Given the description of an element on the screen output the (x, y) to click on. 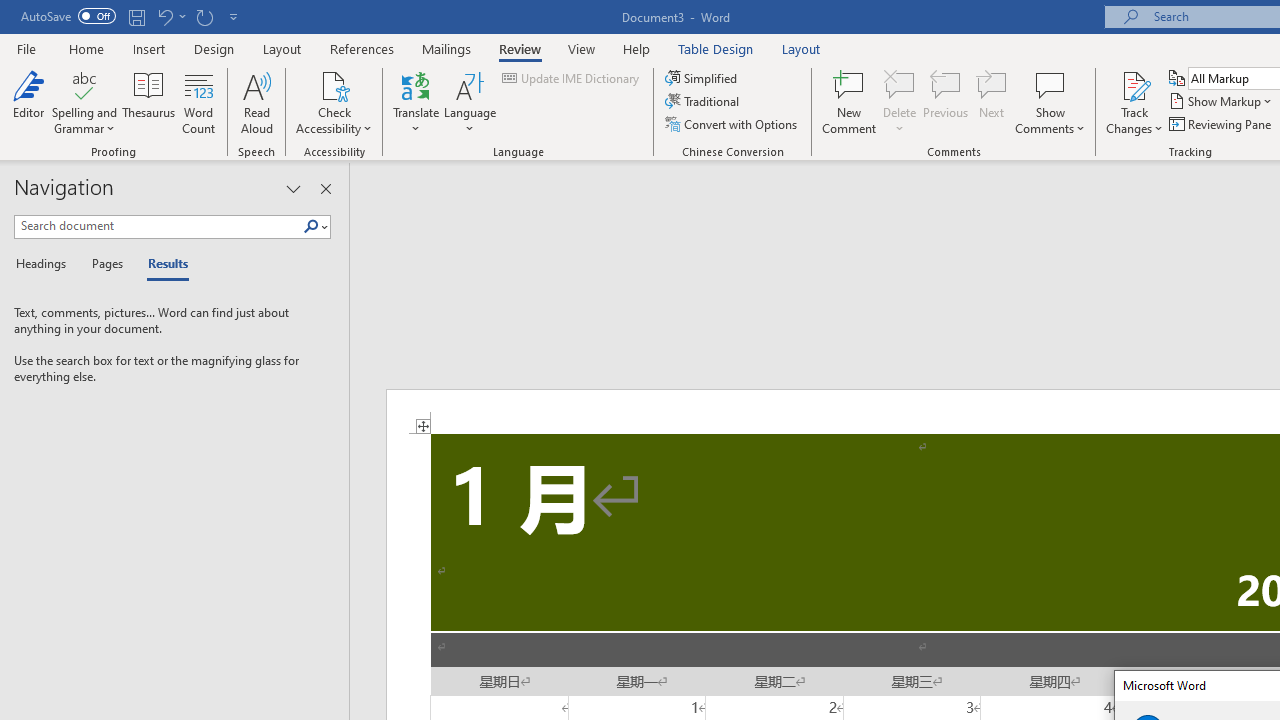
Track Changes (1134, 84)
Spelling and Grammar (84, 102)
Check Accessibility (334, 84)
